Given the description of an element on the screen output the (x, y) to click on. 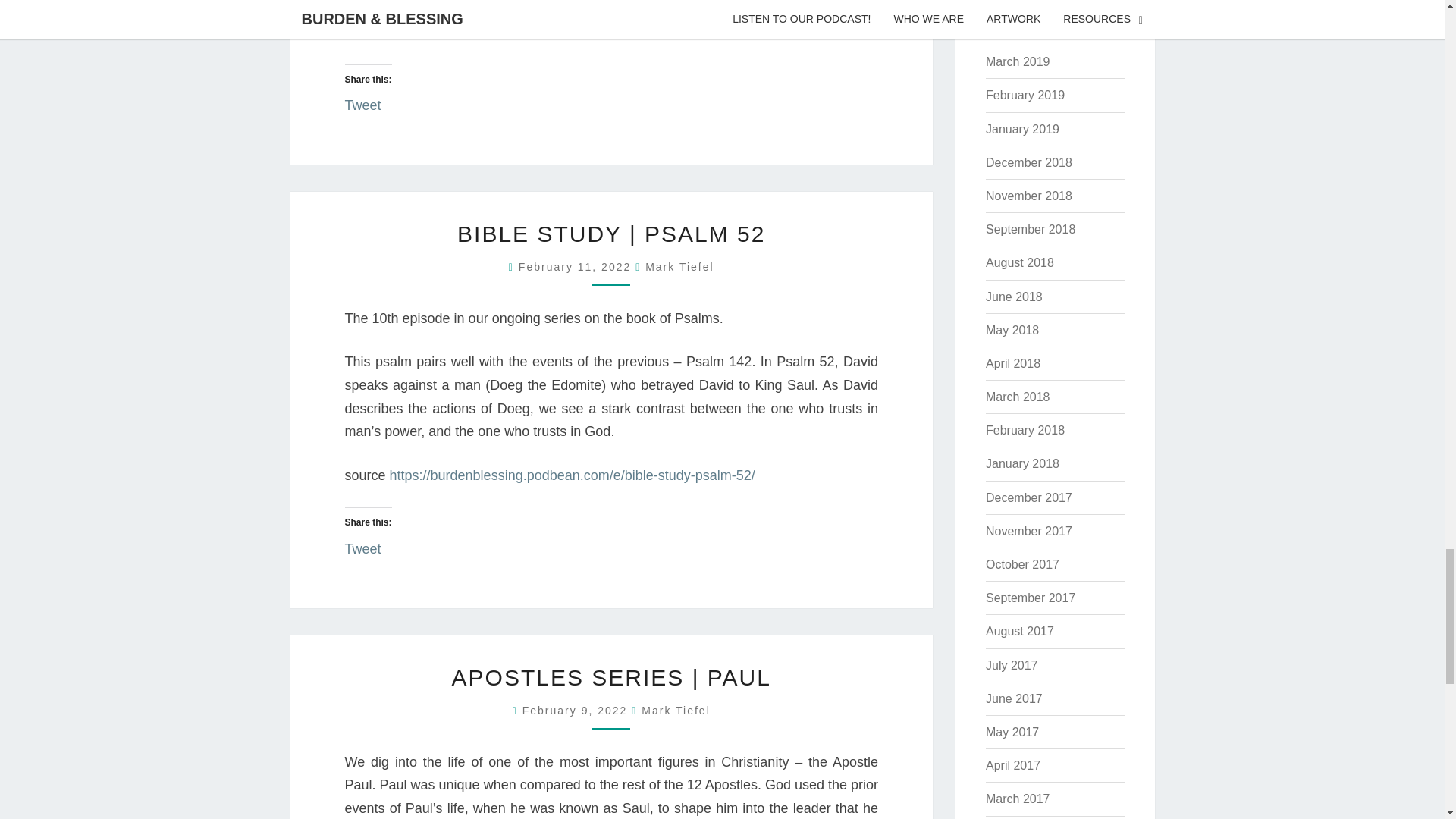
7:43 am (576, 710)
6:43 am (576, 266)
View all posts by Mark Tiefel (679, 266)
